Given the description of an element on the screen output the (x, y) to click on. 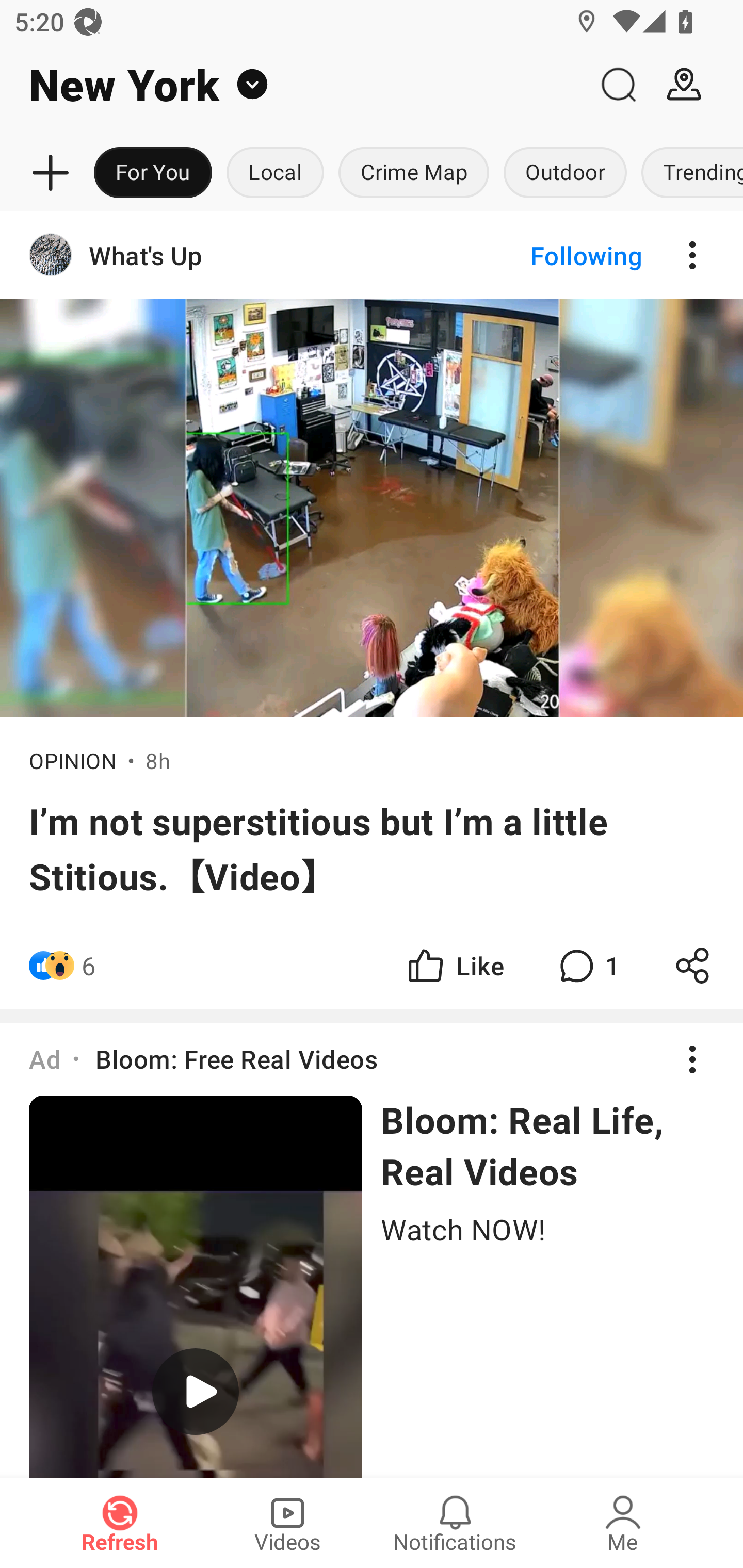
New York (292, 84)
For You (152, 172)
Local (275, 172)
Crime Map (413, 172)
Outdoor (564, 172)
Trending (688, 172)
What's Up Following (371, 255)
Following (569, 255)
6 (88, 964)
Like (454, 964)
1 (587, 964)
Bloom: Free Real Videos (236, 1058)
Bloom: Real Life, Real Videos (547, 1145)
Watch NOW! (547, 1228)
Videos (287, 1522)
Notifications (455, 1522)
Me (622, 1522)
